Given the description of an element on the screen output the (x, y) to click on. 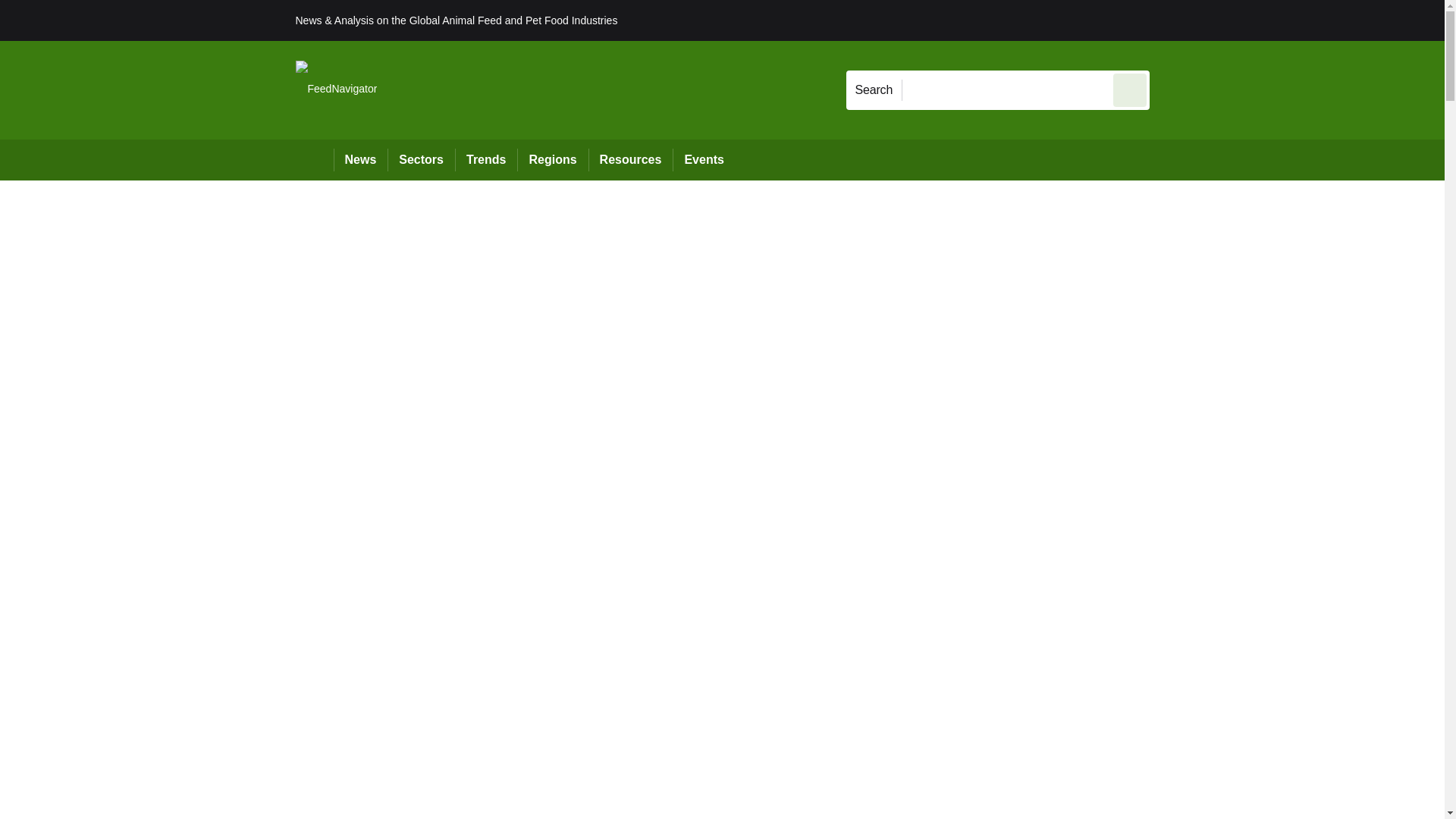
Sign in (1171, 20)
My account (1256, 20)
Trends (485, 159)
Sign out (1174, 20)
News (360, 159)
Send (1129, 89)
Home (313, 159)
Send (1129, 90)
Home (314, 159)
Sectors (420, 159)
